Given the description of an element on the screen output the (x, y) to click on. 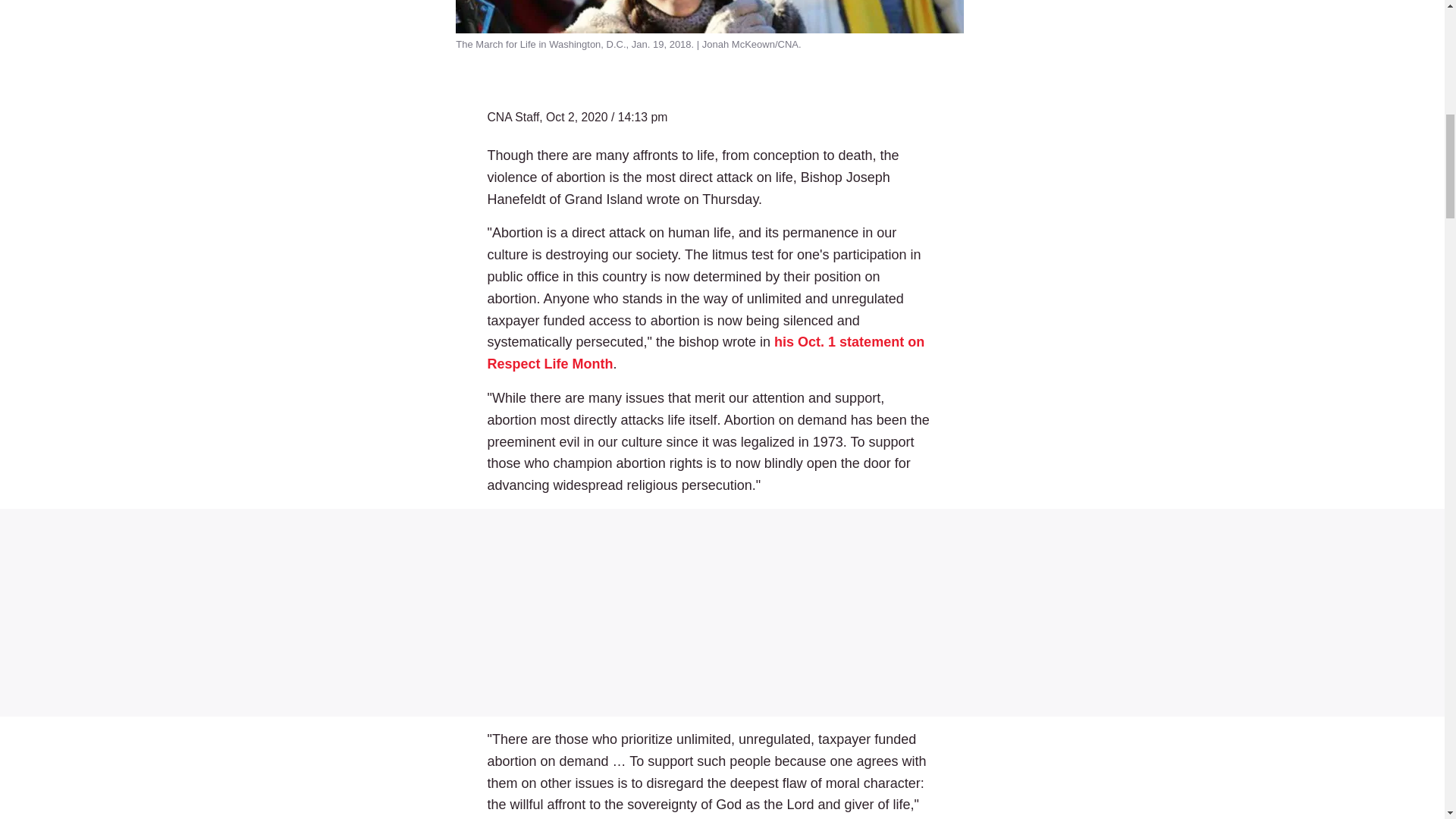
3rd party ad content (721, 612)
